Given the description of an element on the screen output the (x, y) to click on. 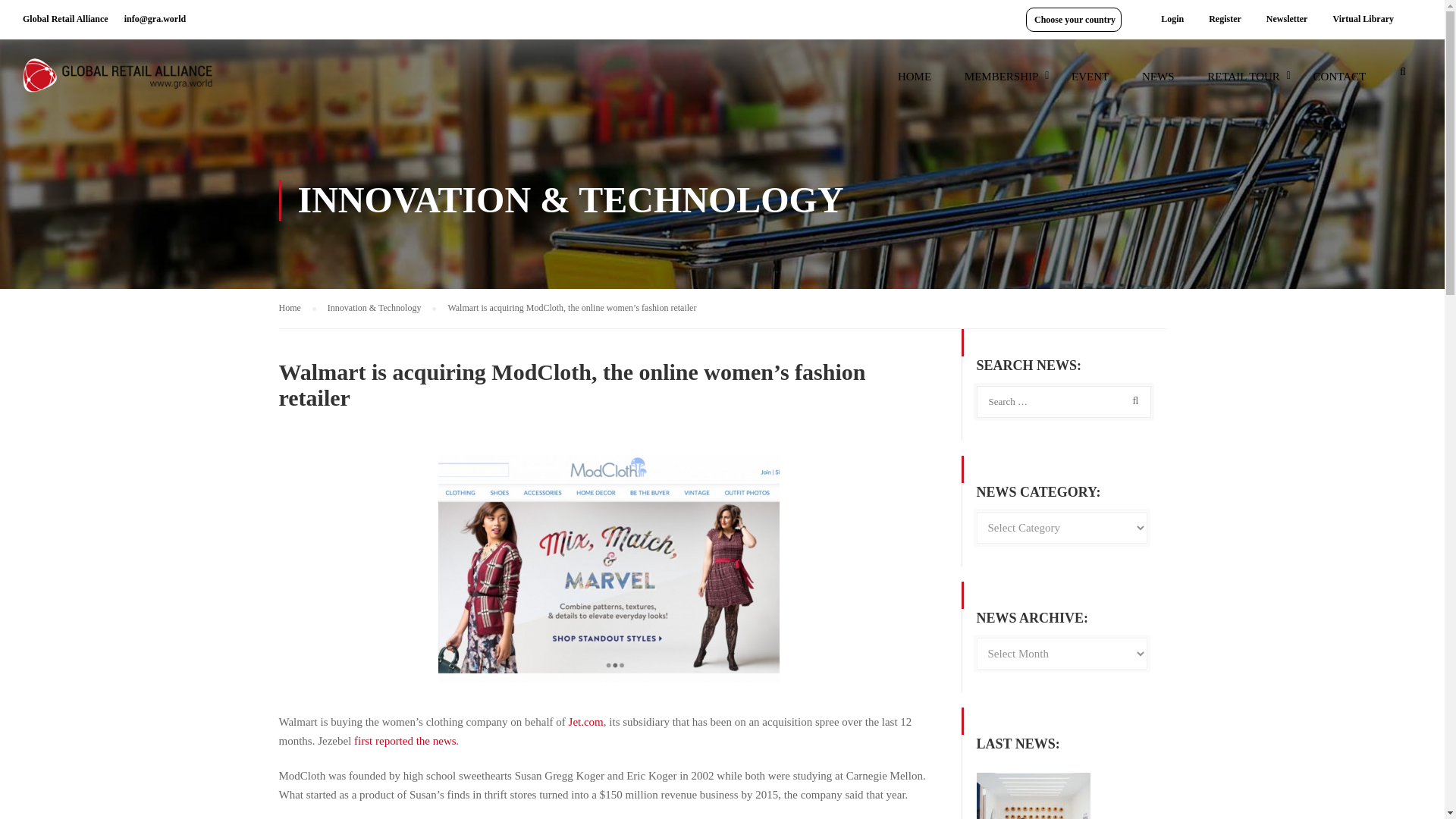
NEWS (1157, 83)
CONTACT (1339, 83)
RETAIL TOUR (1243, 83)
Register (1224, 18)
Virtual Library (1362, 18)
Newsletter (1287, 18)
Login (1172, 18)
Search (1132, 400)
Home (297, 307)
Search (1403, 76)
Search (1403, 76)
MEMBERSHIP (1001, 83)
HOME (914, 83)
Search (1403, 76)
GRA - Global Retail Alliance (117, 82)
